Given the description of an element on the screen output the (x, y) to click on. 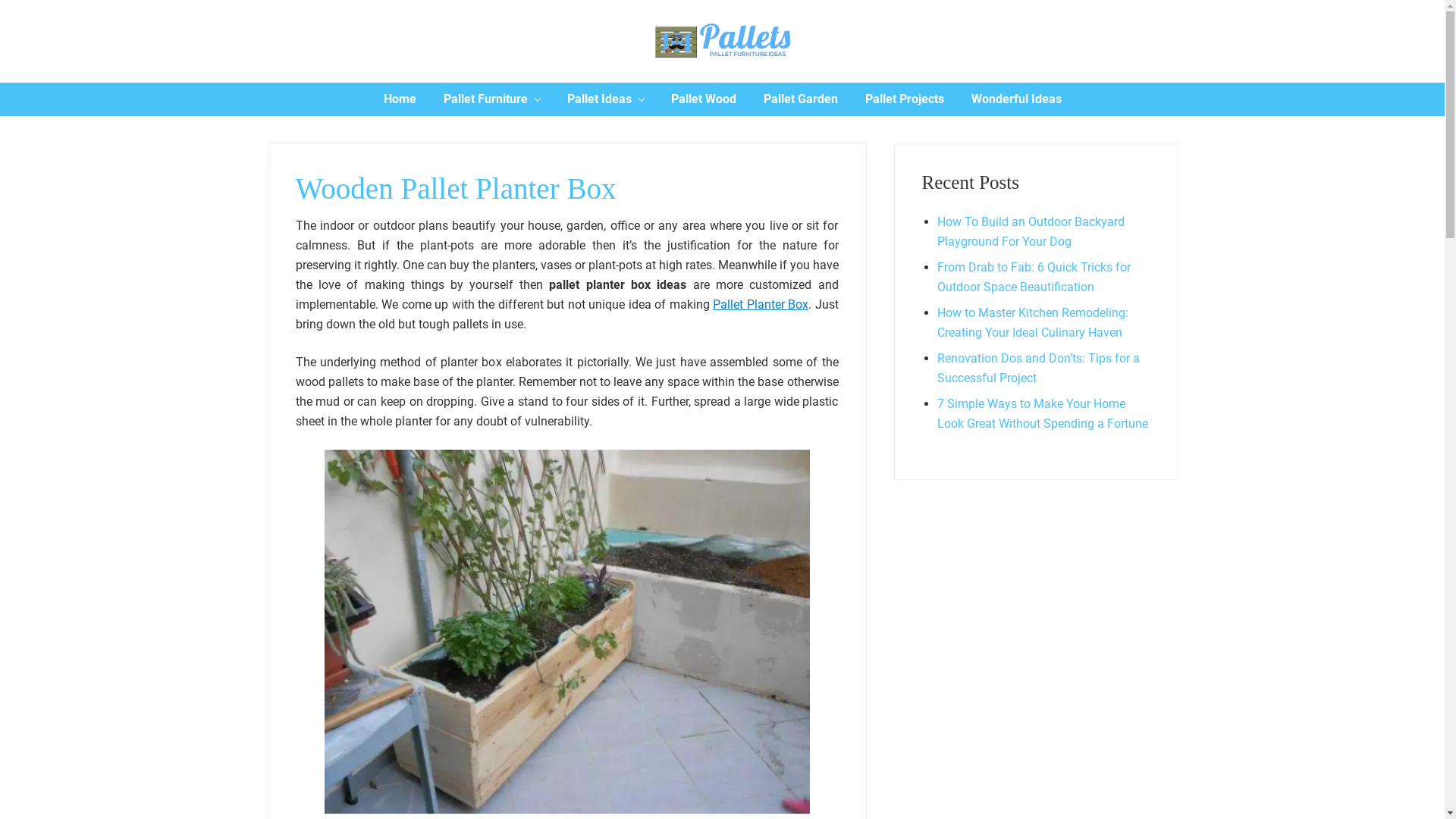
Pallet Planter Box Element type: text (760, 304)
How To Build an Outdoor Backyard Playground For Your Dog Element type: text (1030, 231)
Home Element type: text (399, 99)
Pallet Projects Element type: text (903, 99)
Pallet Wood Element type: text (702, 99)
Pallet Ideas Element type: text (605, 99)
Skip to primary navigation Element type: text (0, 0)
Wonderful Ideas Element type: text (1015, 99)
Pallet Furniture Element type: text (490, 99)
Pallet Garden Element type: text (799, 99)
